Given the description of an element on the screen output the (x, y) to click on. 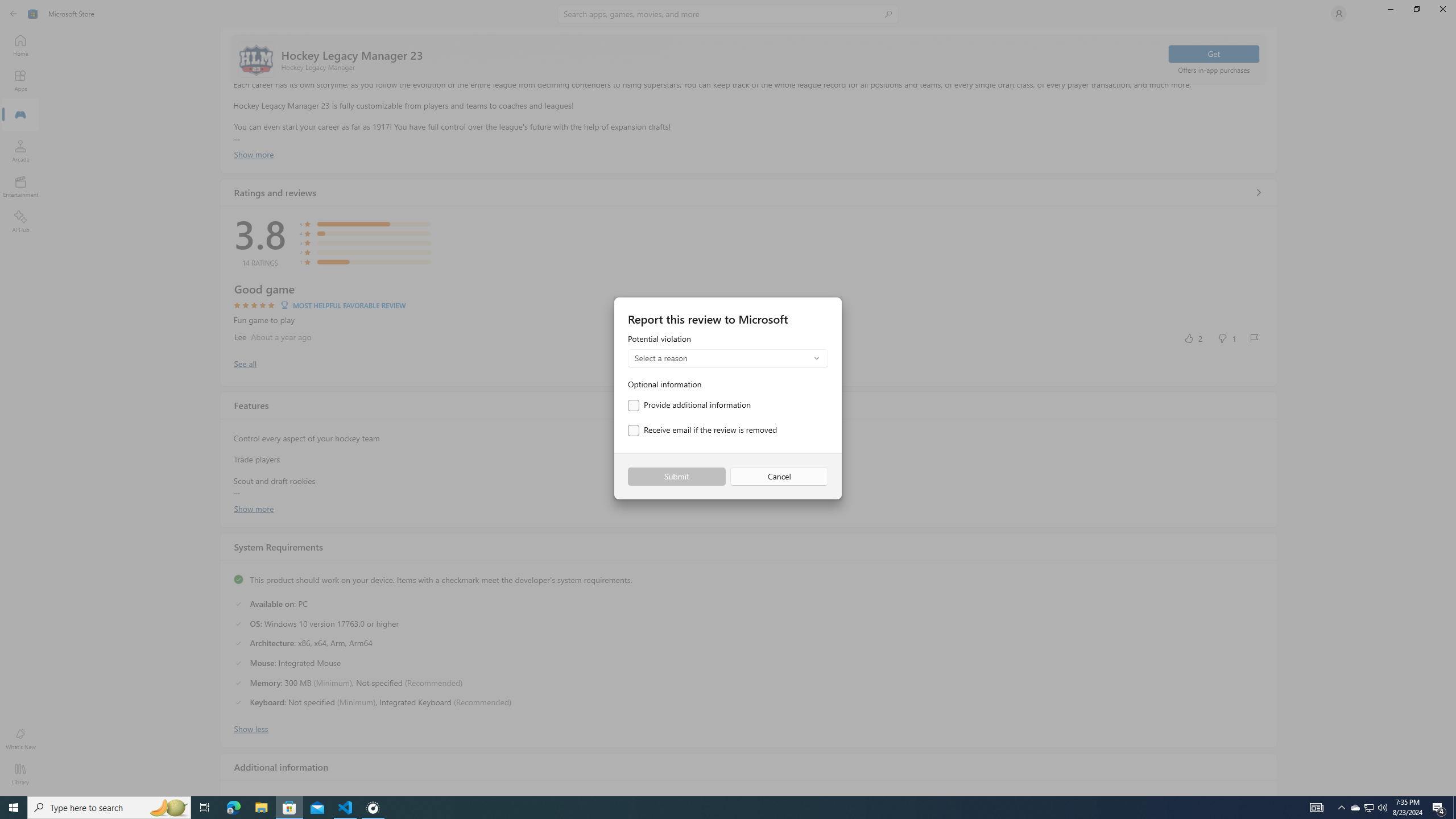
Potential violation (727, 351)
Show less (250, 728)
Minimize Microsoft Store (1390, 9)
Report review (1253, 338)
No, this was not helpful. 1 votes. (1226, 338)
Receive email if the review is removed (702, 430)
Cancel (779, 476)
Arcade (20, 150)
User profile (1338, 13)
Yes, this was helpful. 2 votes. (1192, 338)
Back (13, 13)
Close Microsoft Store (1442, 9)
AI Hub (20, 221)
Review by Lee. Rated 5 out of five stars. Good game. (748, 313)
Provide additional information (689, 405)
